Given the description of an element on the screen output the (x, y) to click on. 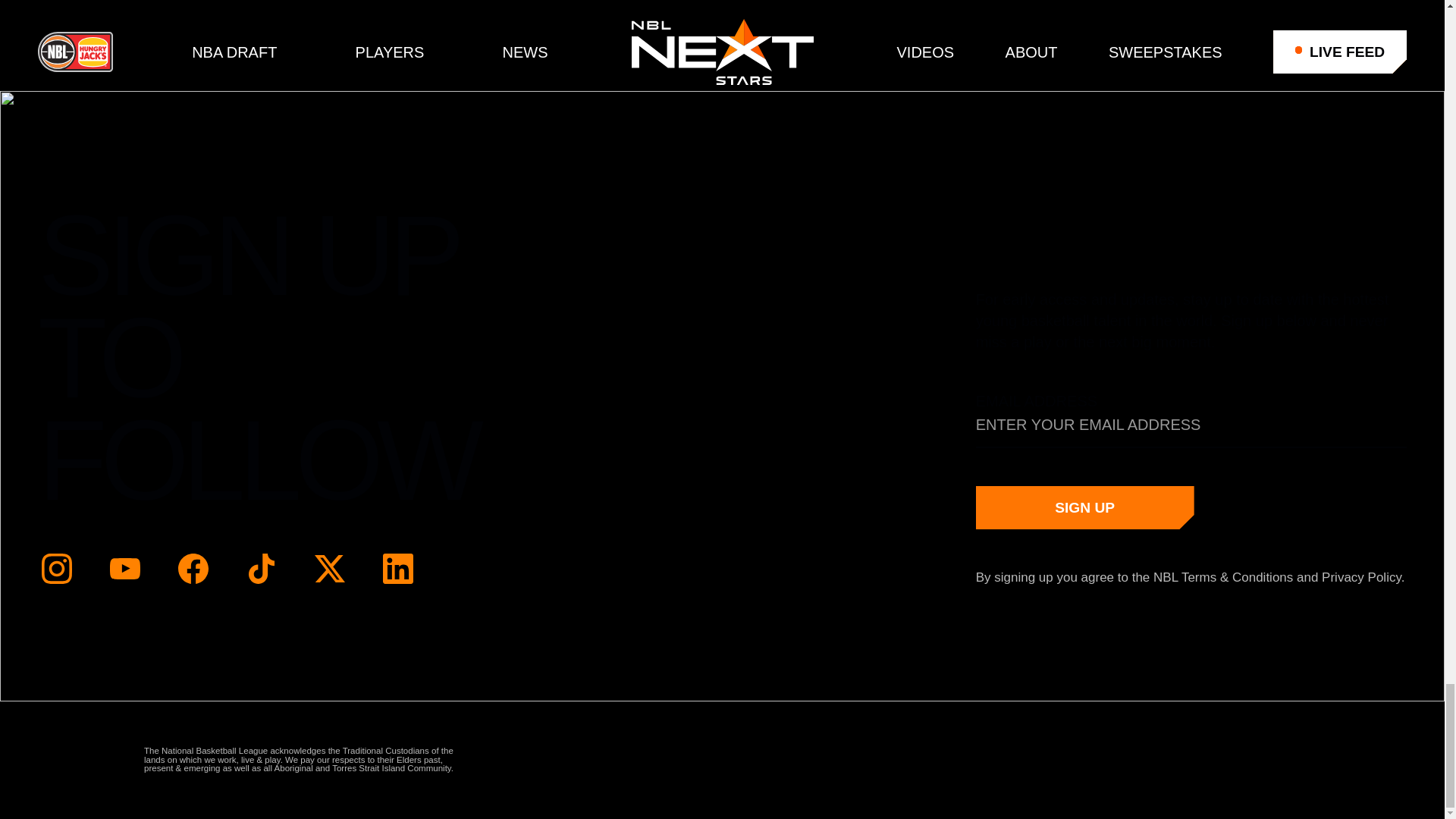
Sign Up (1084, 507)
Sign Up (1084, 507)
Privacy Policy. (1363, 577)
